Given the description of an element on the screen output the (x, y) to click on. 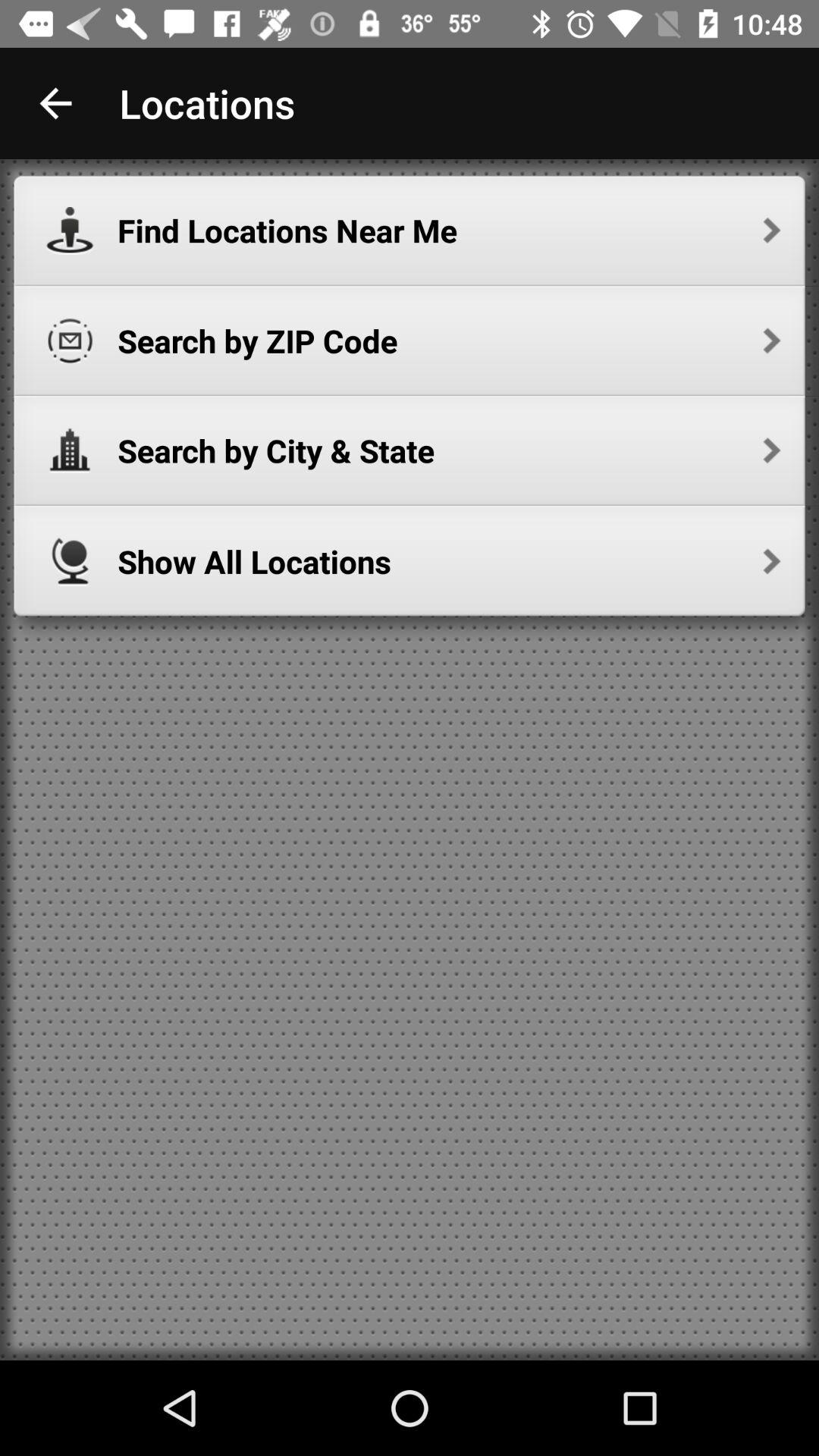
jump until the find locations near icon (448, 230)
